Given the description of an element on the screen output the (x, y) to click on. 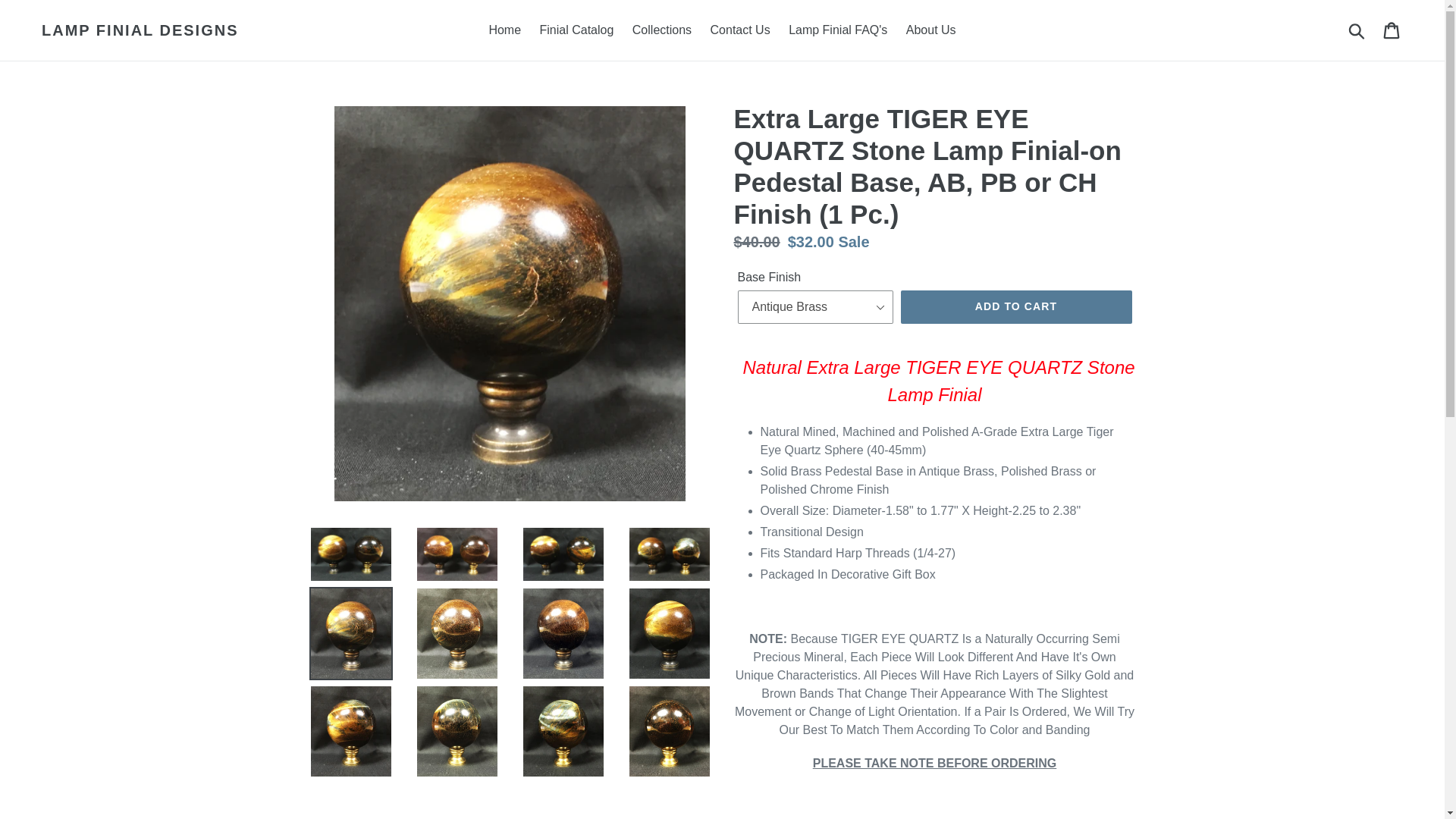
LAMP FINIAL DESIGNS (140, 30)
ADD TO CART (1016, 306)
Submit (1357, 29)
Finial Catalog (576, 29)
Home (504, 29)
Lamp Finial FAQ's (837, 29)
Contact Us (740, 29)
Collections (661, 29)
About Us (930, 29)
Cart (1392, 29)
